Given the description of an element on the screen output the (x, y) to click on. 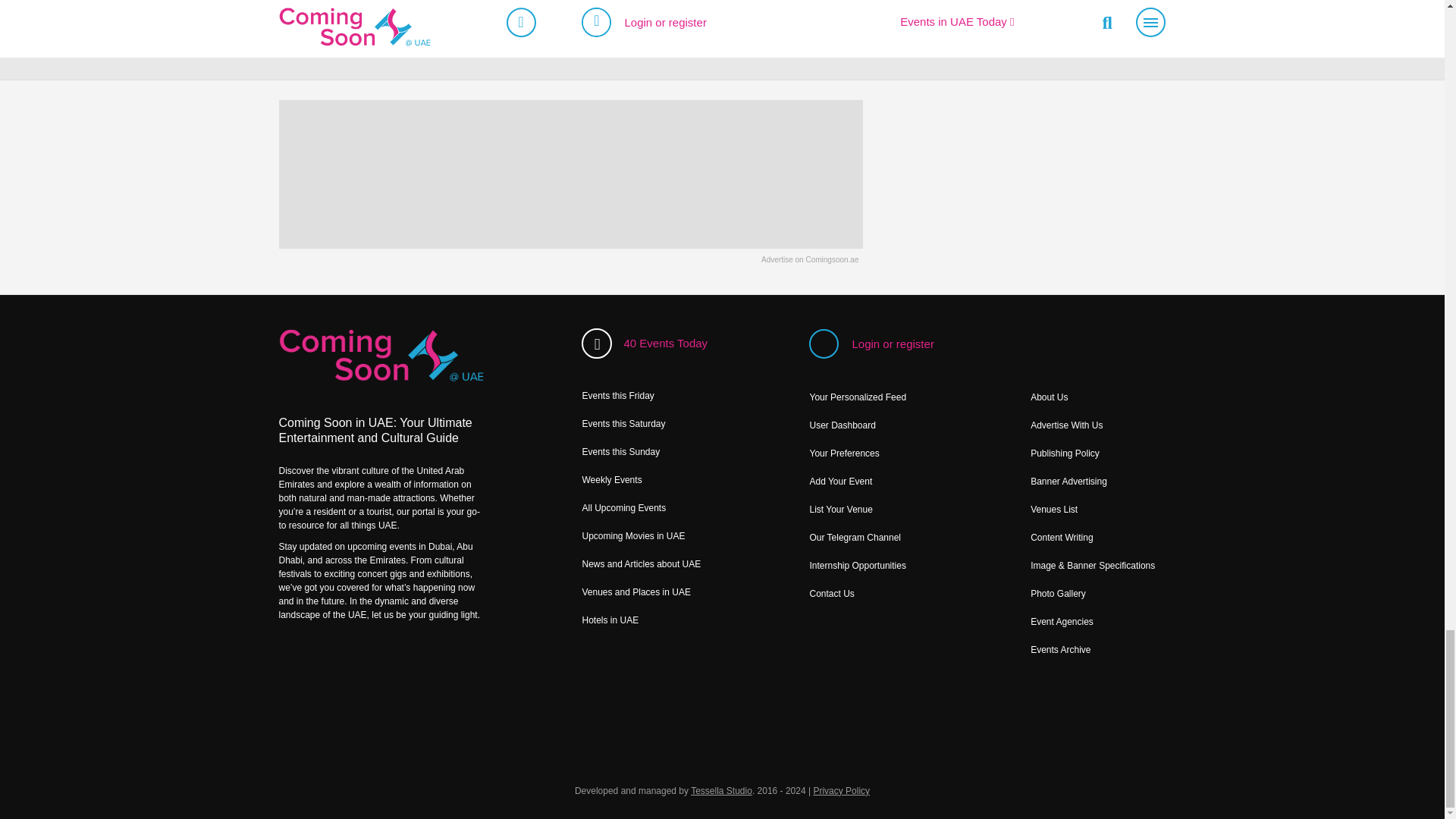
Tessella Studio (721, 790)
